Given the description of an element on the screen output the (x, y) to click on. 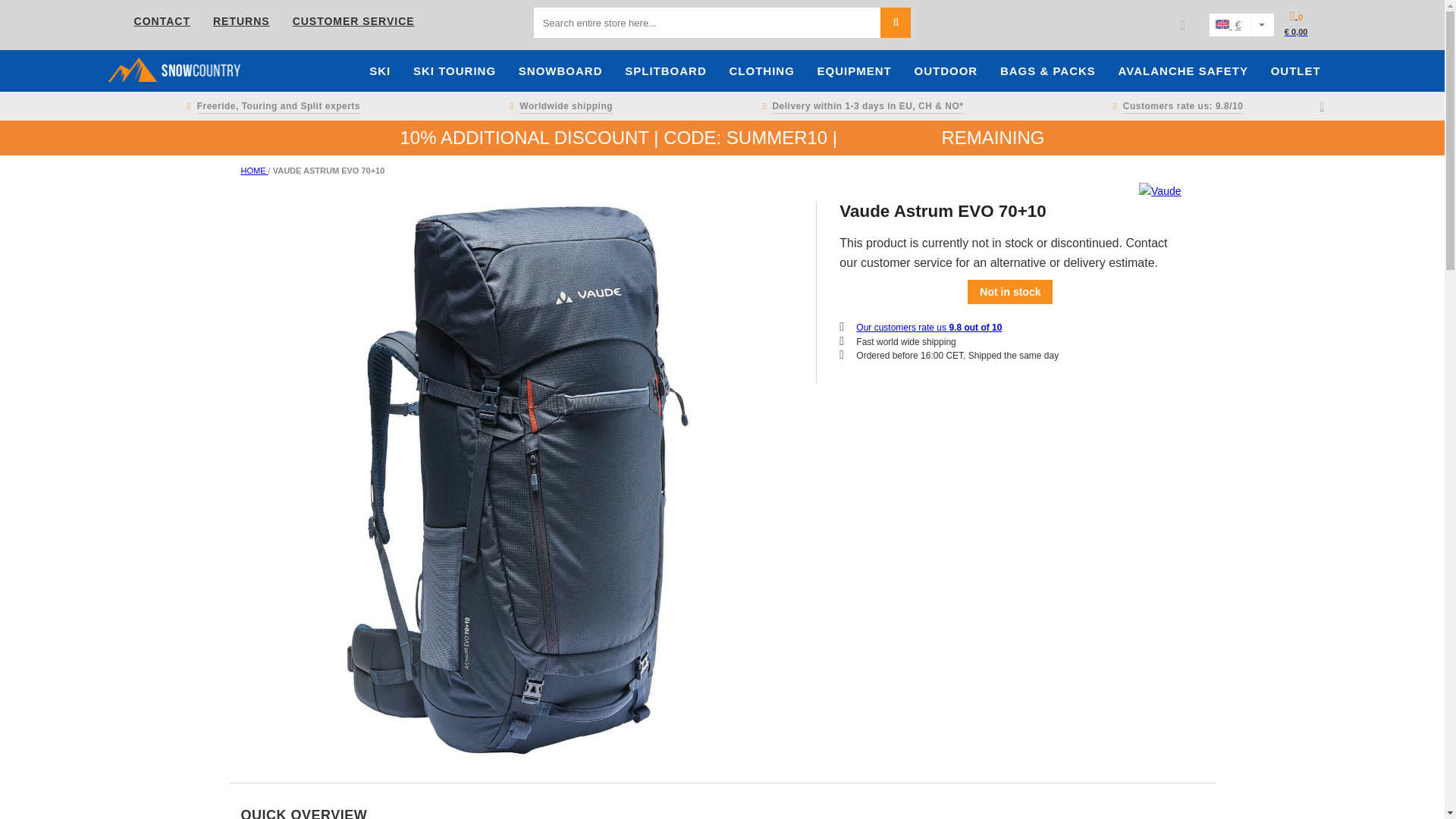
Delivery times (859, 105)
Search (895, 22)
Worldwide shipping (557, 105)
CONTACT (161, 21)
Go to Home Page (254, 170)
Customers rate (1175, 105)
Search (895, 22)
CUSTOMER SERVICE (353, 21)
RETURNS (240, 21)
